Given the description of an element on the screen output the (x, y) to click on. 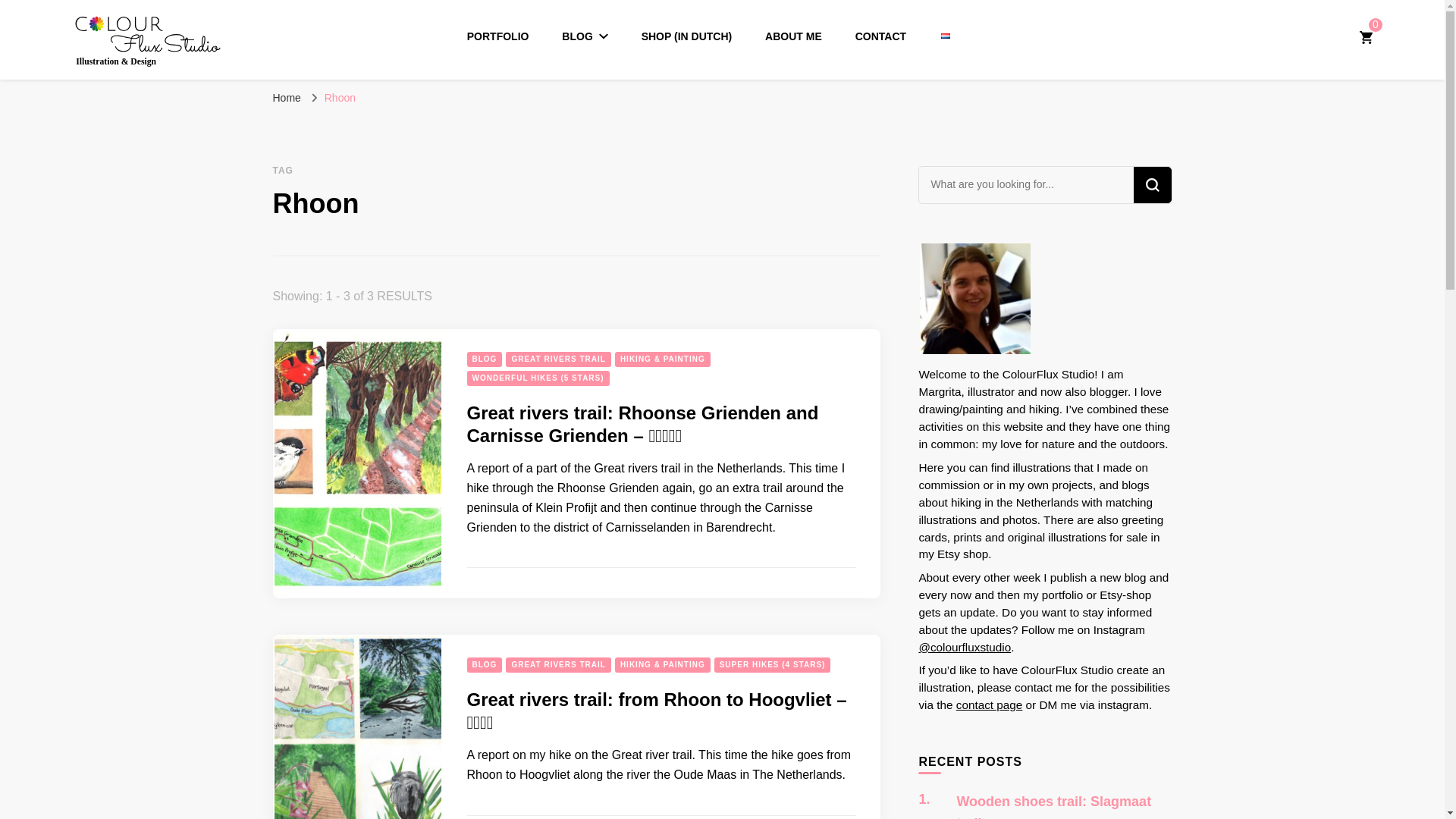
Rhoon (339, 97)
Search (1151, 185)
CONTACT (880, 36)
GREAT RIVERS TRAIL (557, 359)
Home (287, 97)
Search (1151, 185)
ABOUT ME (793, 36)
BLOG (584, 36)
PORTFOLIO (498, 36)
BLOG (484, 359)
